Given the description of an element on the screen output the (x, y) to click on. 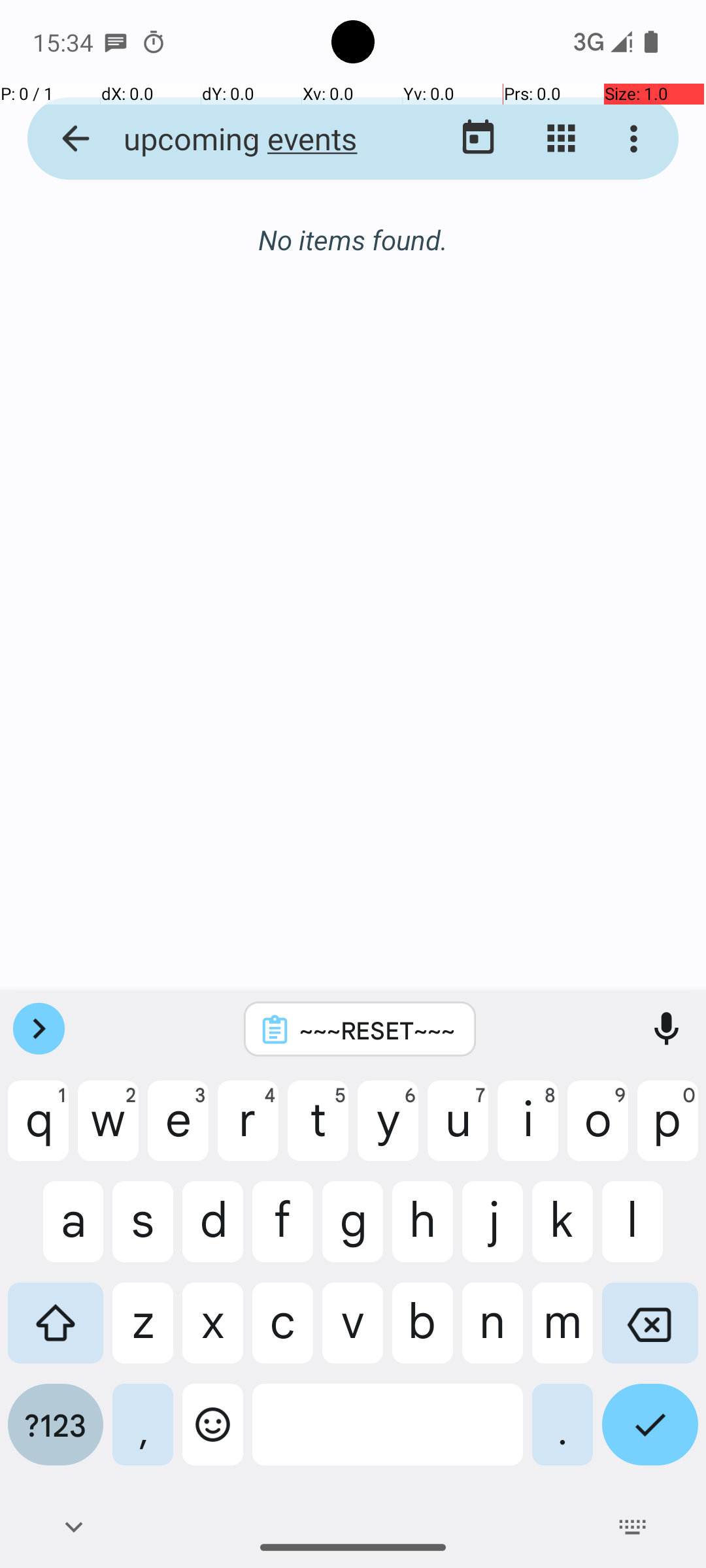
upcoming events Element type: android.widget.EditText (252, 138)
August Element type: android.widget.TextView (352, 239)
